Given the description of an element on the screen output the (x, y) to click on. 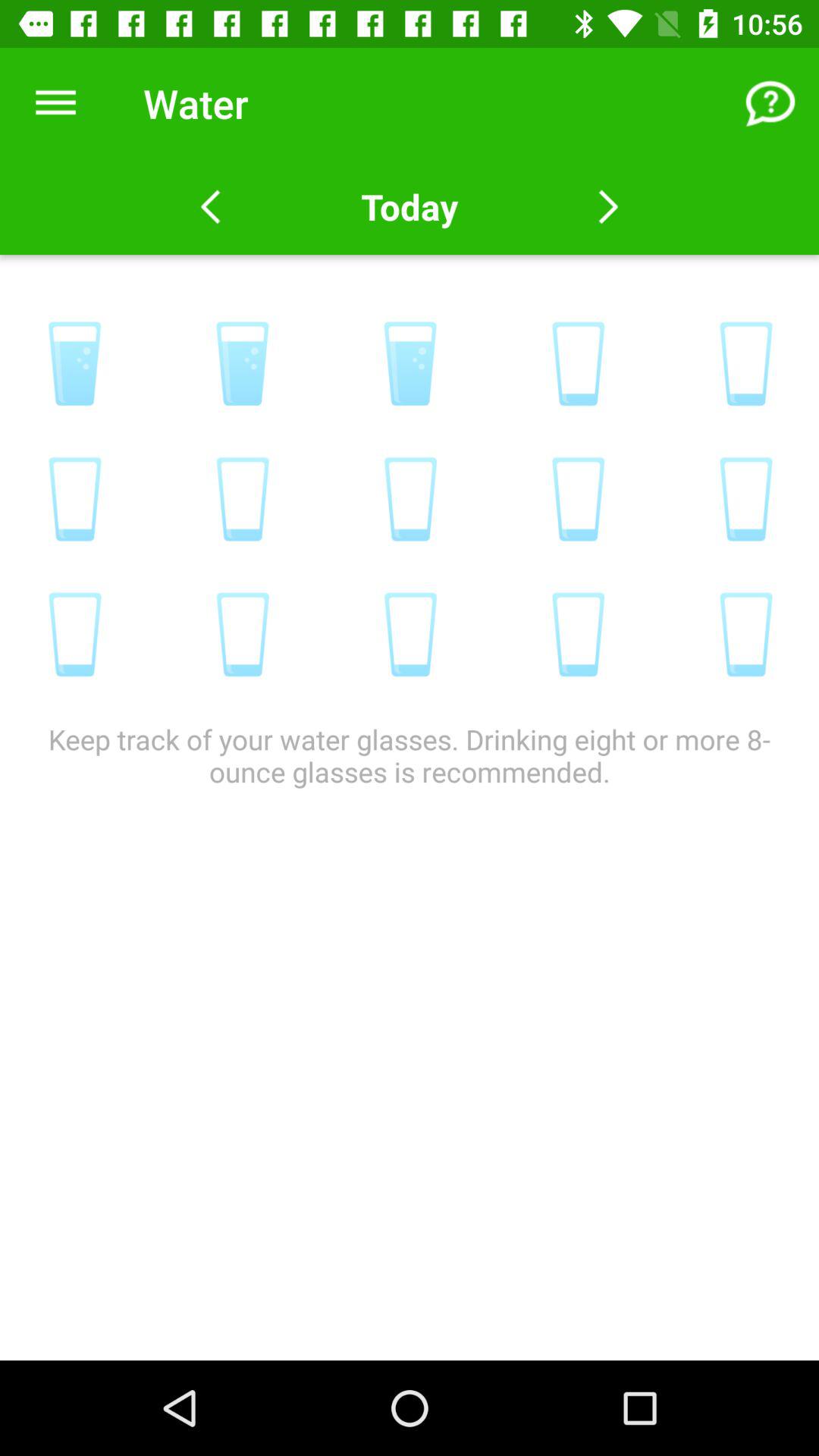
launch the item to the left of the water icon (55, 103)
